Given the description of an element on the screen output the (x, y) to click on. 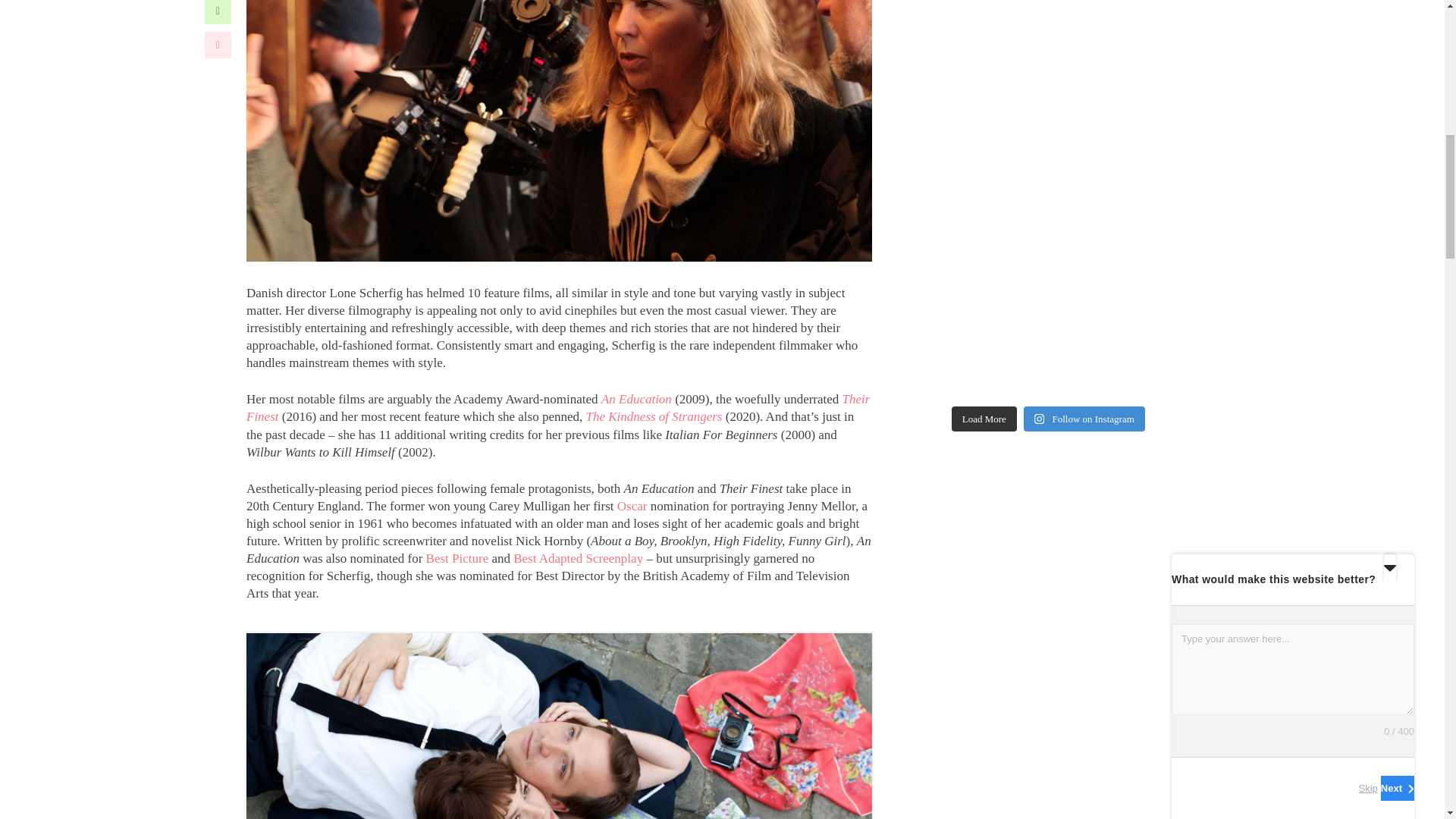
An Education (636, 399)
Their Finest (557, 408)
Best Adapted Screenplay (578, 558)
The Kindness of Strangers (654, 416)
Best Picture (459, 558)
Oscar (632, 505)
